Given the description of an element on the screen output the (x, y) to click on. 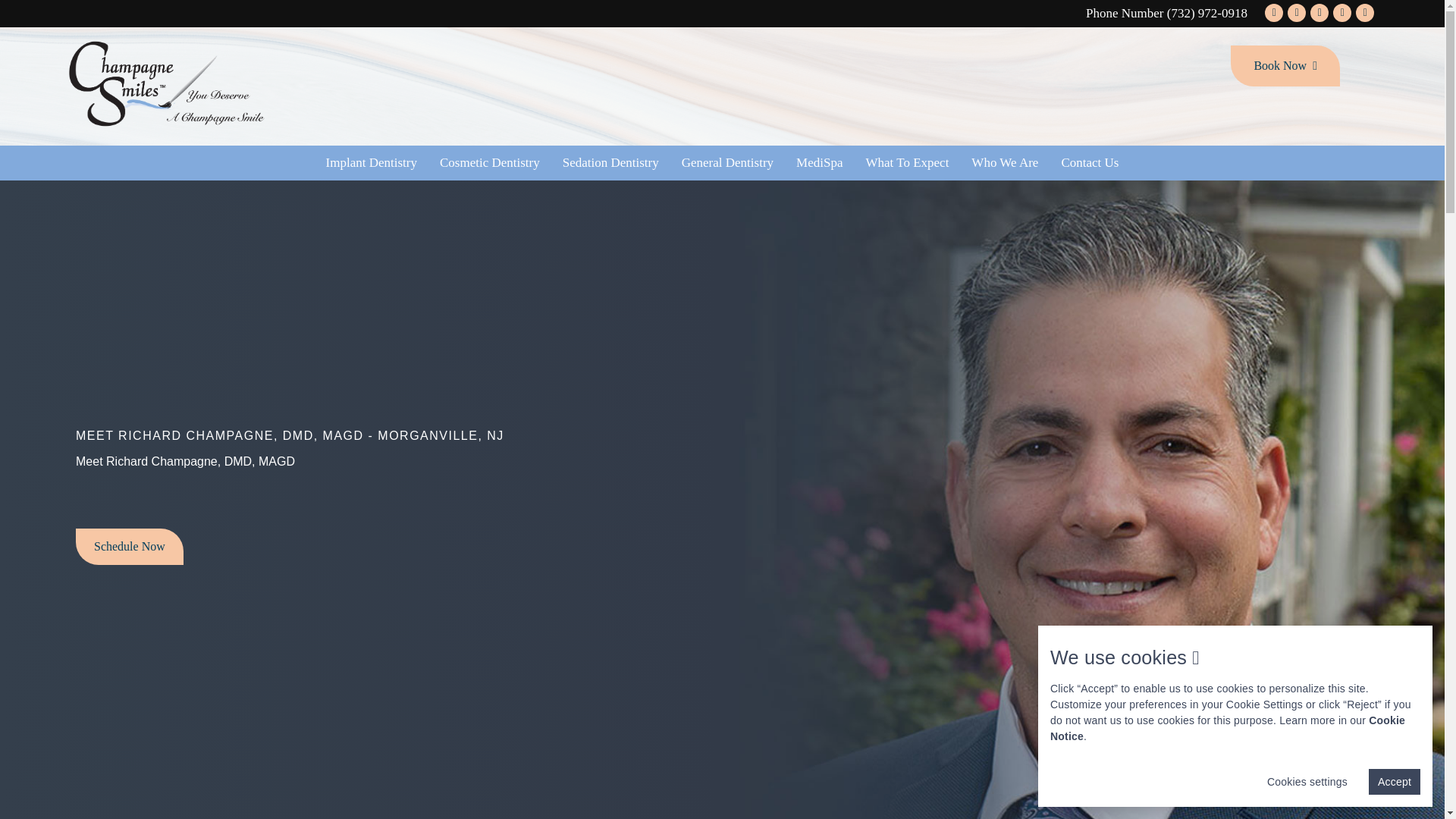
Book Now (1284, 65)
Sedation Dentistry (610, 162)
General Dentistry (726, 162)
MediSpa (818, 162)
Cosmetic Dentistry (489, 162)
What To Expect (906, 162)
Who We Are (1004, 162)
Implant Dentistry (371, 162)
